Given the description of an element on the screen output the (x, y) to click on. 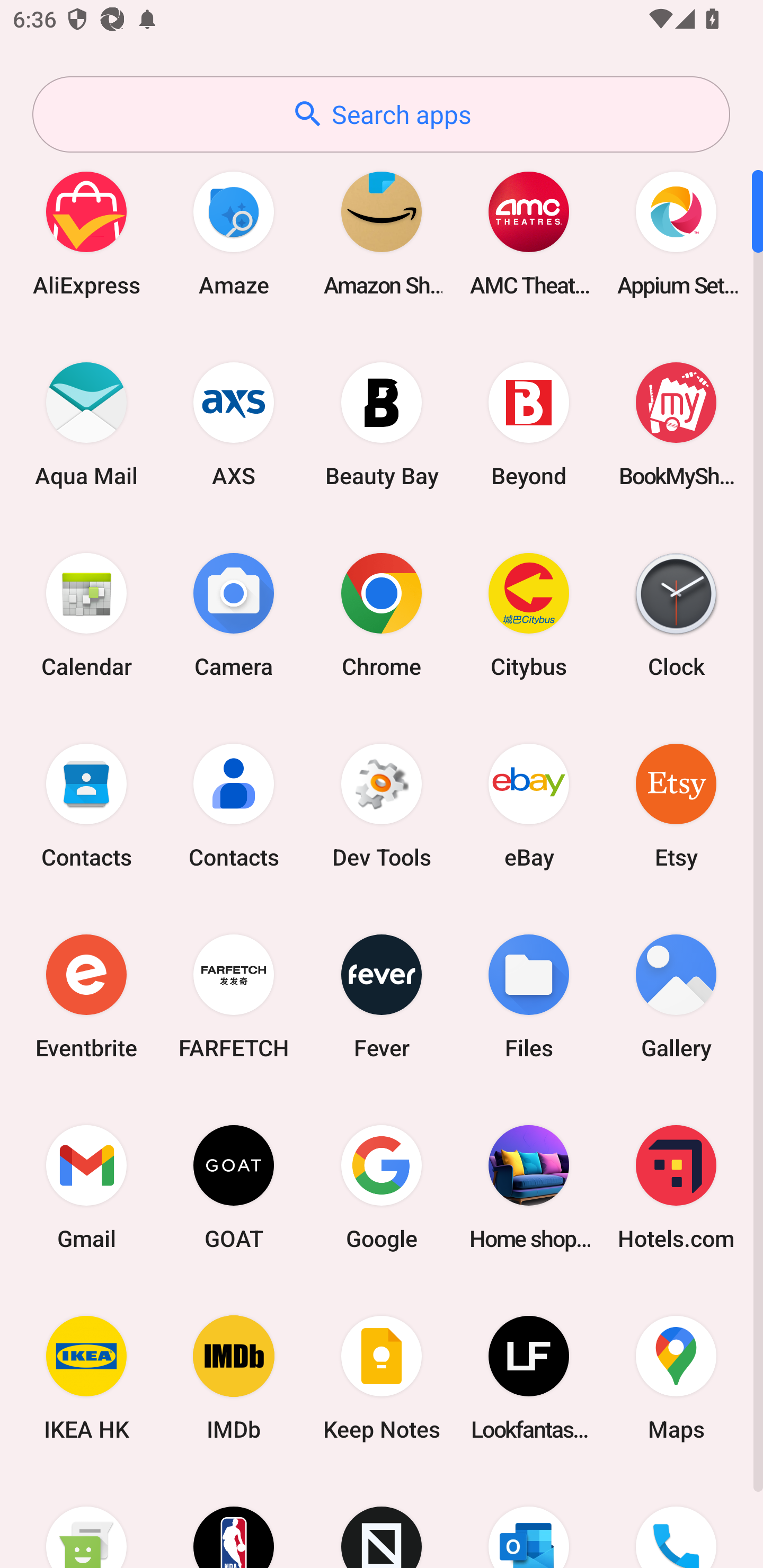
  Search apps (381, 114)
AliExpress (86, 233)
Amaze (233, 233)
Amazon Shopping (381, 233)
AMC Theatres (528, 233)
Appium Settings (676, 233)
Aqua Mail (86, 424)
AXS (233, 424)
Beauty Bay (381, 424)
Beyond (528, 424)
BookMyShow (676, 424)
Calendar (86, 614)
Camera (233, 614)
Chrome (381, 614)
Citybus (528, 614)
Clock (676, 614)
Contacts (86, 805)
Contacts (233, 805)
Dev Tools (381, 805)
eBay (528, 805)
Etsy (676, 805)
Eventbrite (86, 996)
FARFETCH (233, 996)
Fever (381, 996)
Files (528, 996)
Gallery (676, 996)
Gmail (86, 1186)
GOAT (233, 1186)
Google (381, 1186)
Home shopping (528, 1186)
Hotels.com (676, 1186)
IKEA HK (86, 1377)
IMDb (233, 1377)
Keep Notes (381, 1377)
Lookfantastic (528, 1377)
Maps (676, 1377)
